Given the description of an element on the screen output the (x, y) to click on. 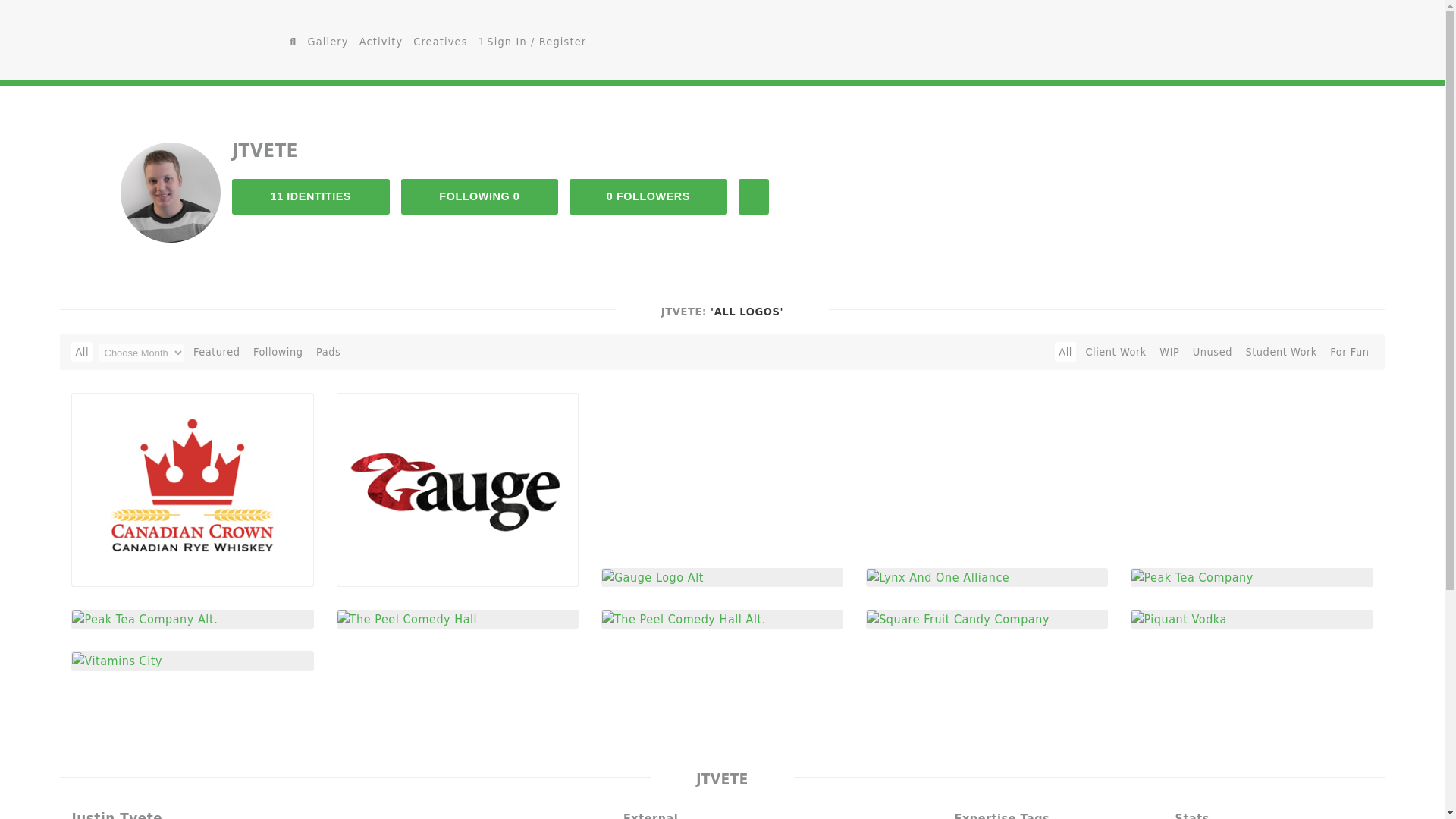
jtvete (170, 192)
Client Work (1115, 351)
Following (277, 351)
11 IDENTITIES (310, 196)
Gauge Logo (457, 489)
WIP (1169, 351)
Peak Tea Company Alt. (143, 617)
Activity (381, 41)
Lynx And One Alliance (937, 576)
FOLLOWING 0 (480, 196)
